Given the description of an element on the screen output the (x, y) to click on. 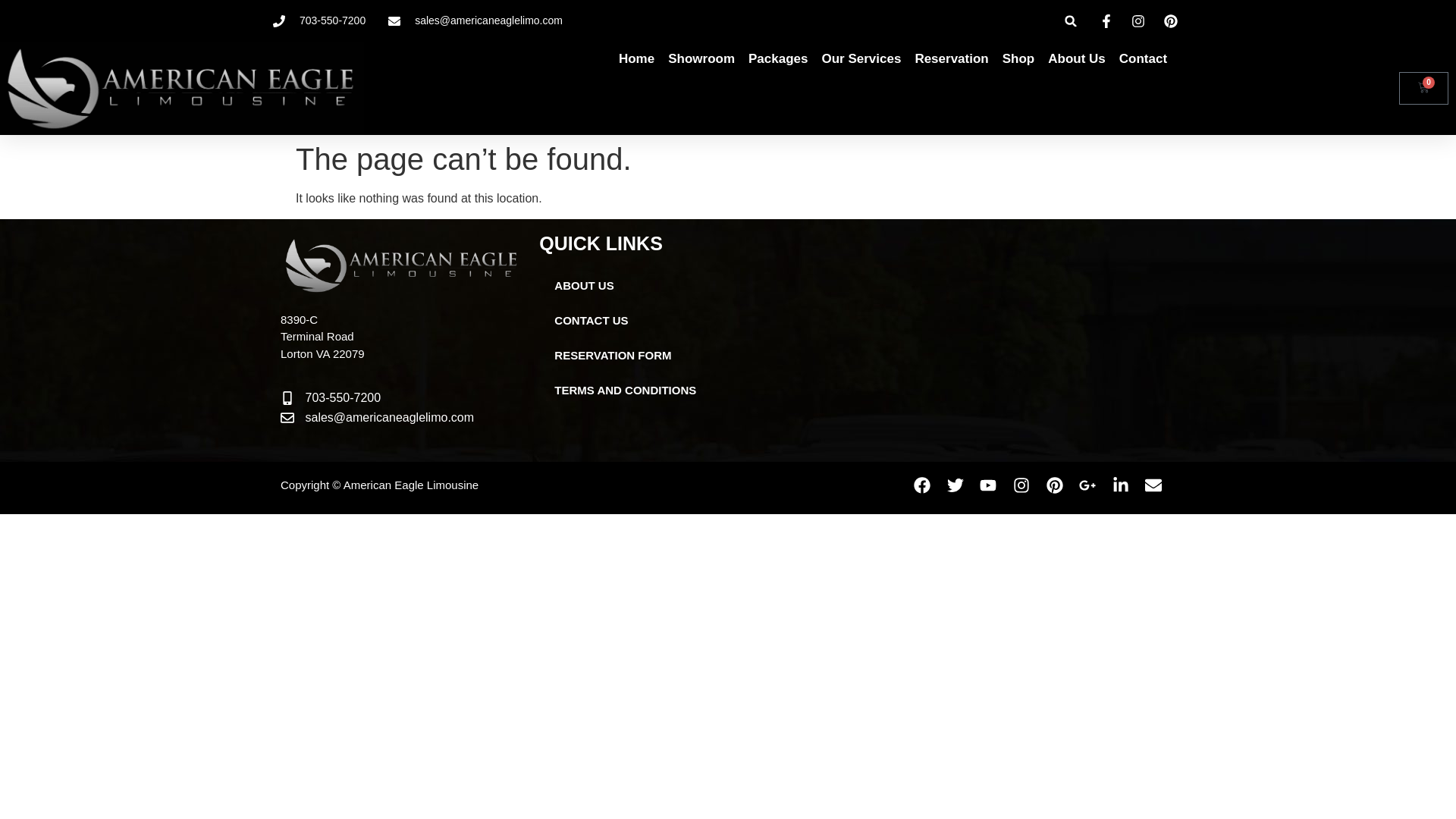
8390 Terminal Road, Lorton VA 22079 (989, 340)
Showroom (701, 58)
Shop (1019, 58)
Reservation (951, 58)
Packages (778, 58)
Contact (1143, 58)
Home (635, 58)
About Us (1076, 58)
Our Services (861, 58)
703-550-7200 (319, 20)
